Given the description of an element on the screen output the (x, y) to click on. 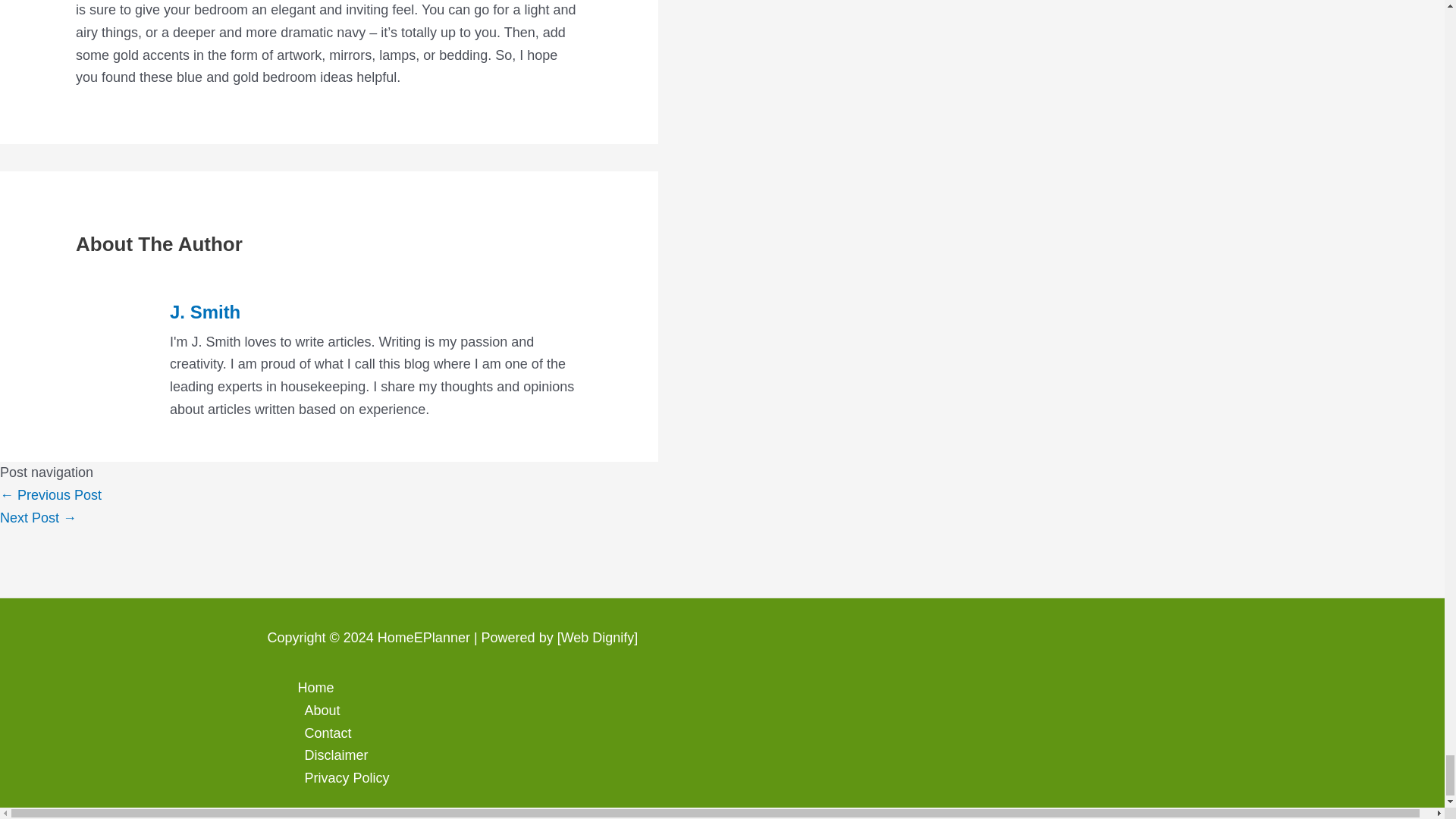
J. Smith (376, 312)
How To Clean Dining Table (38, 517)
How To Clean Outdoor Plastic Furniture (50, 494)
